Given the description of an element on the screen output the (x, y) to click on. 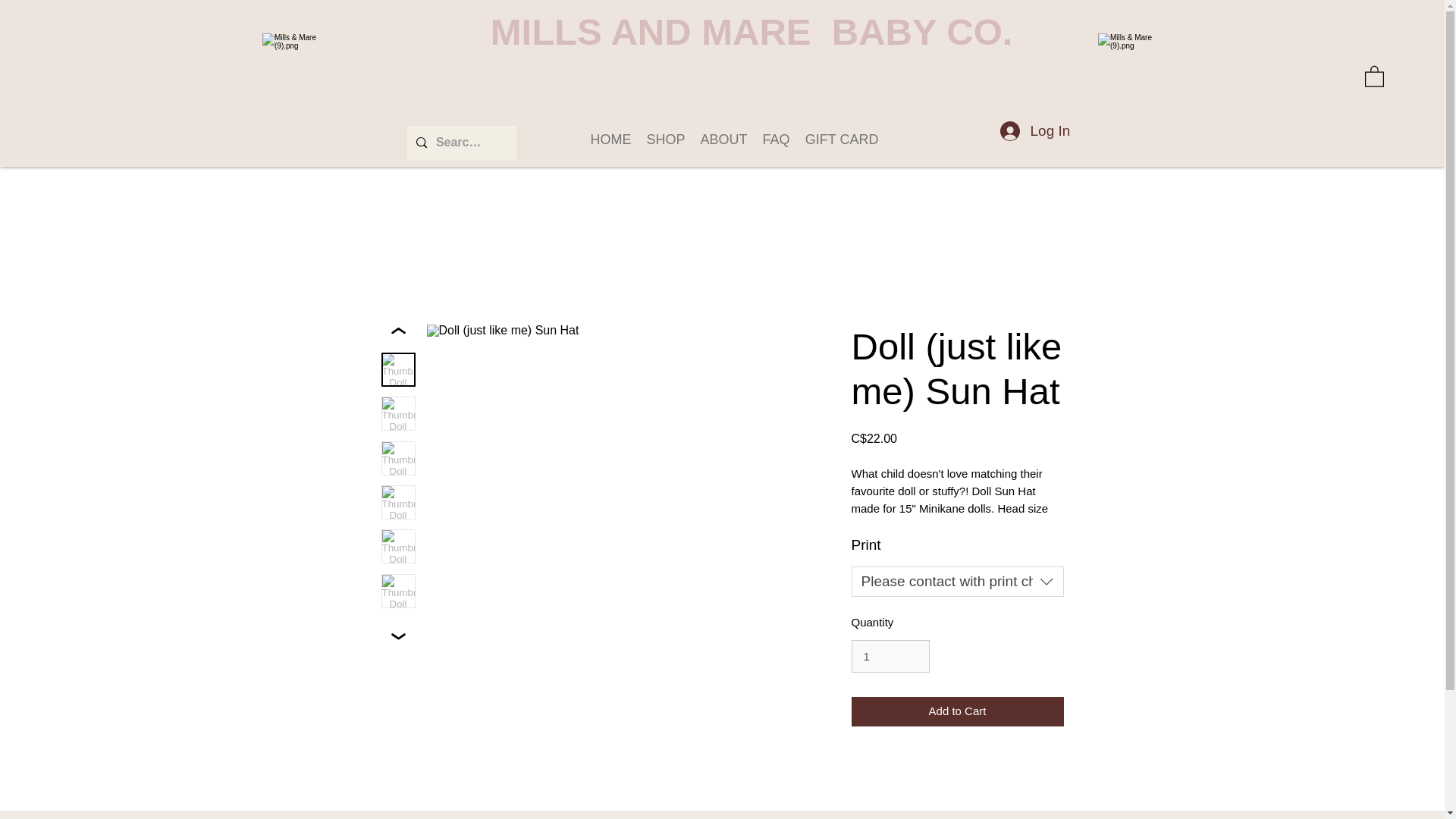
ABOUT (724, 139)
Add to Cart (956, 711)
Log In (1034, 130)
1 (890, 656)
HOME (610, 139)
Please contact with print choice (956, 581)
SHOP (666, 139)
FAQ (776, 139)
GIFT CARD (841, 139)
